Given the description of an element on the screen output the (x, y) to click on. 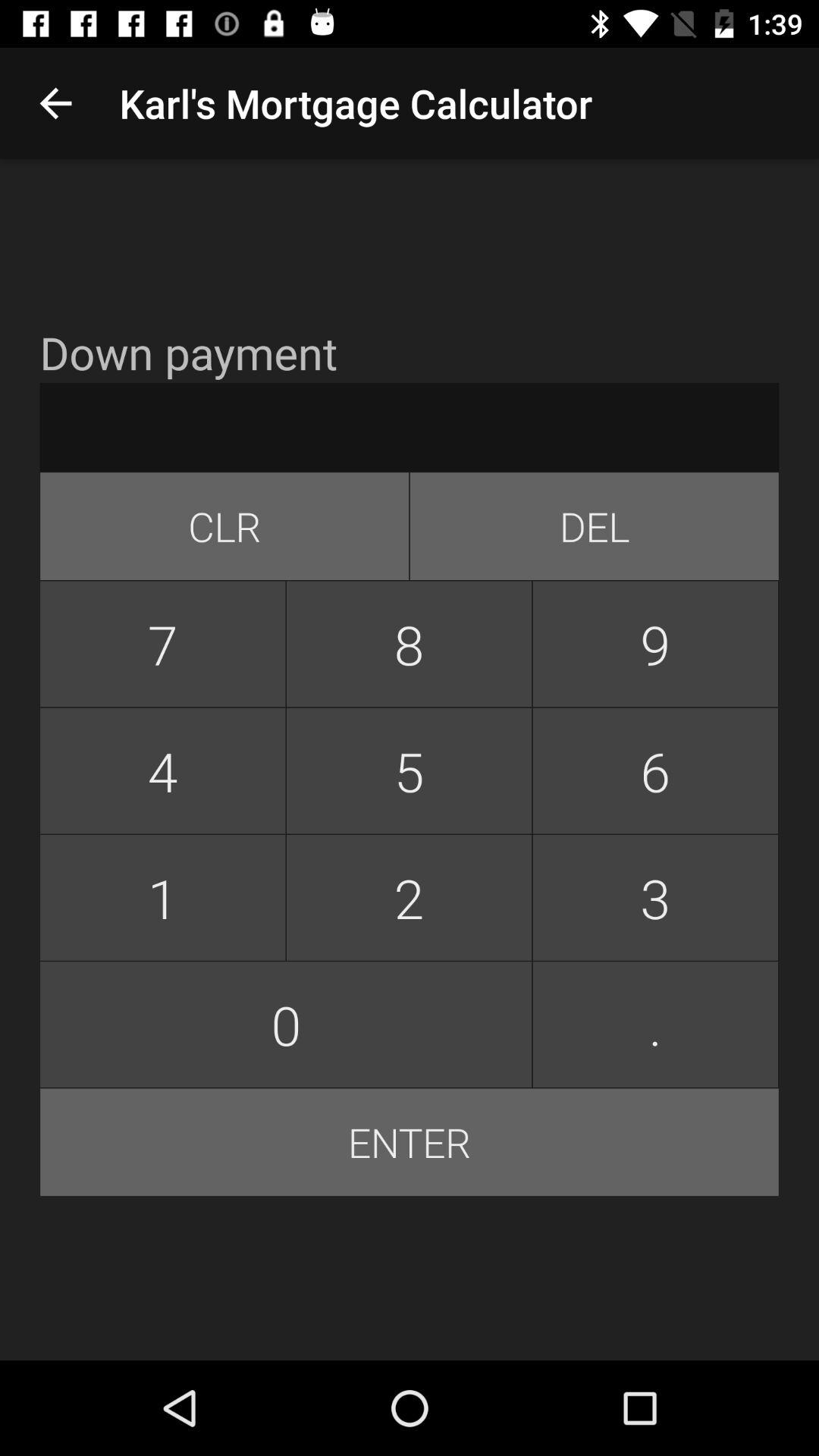
open 2 icon (408, 897)
